Given the description of an element on the screen output the (x, y) to click on. 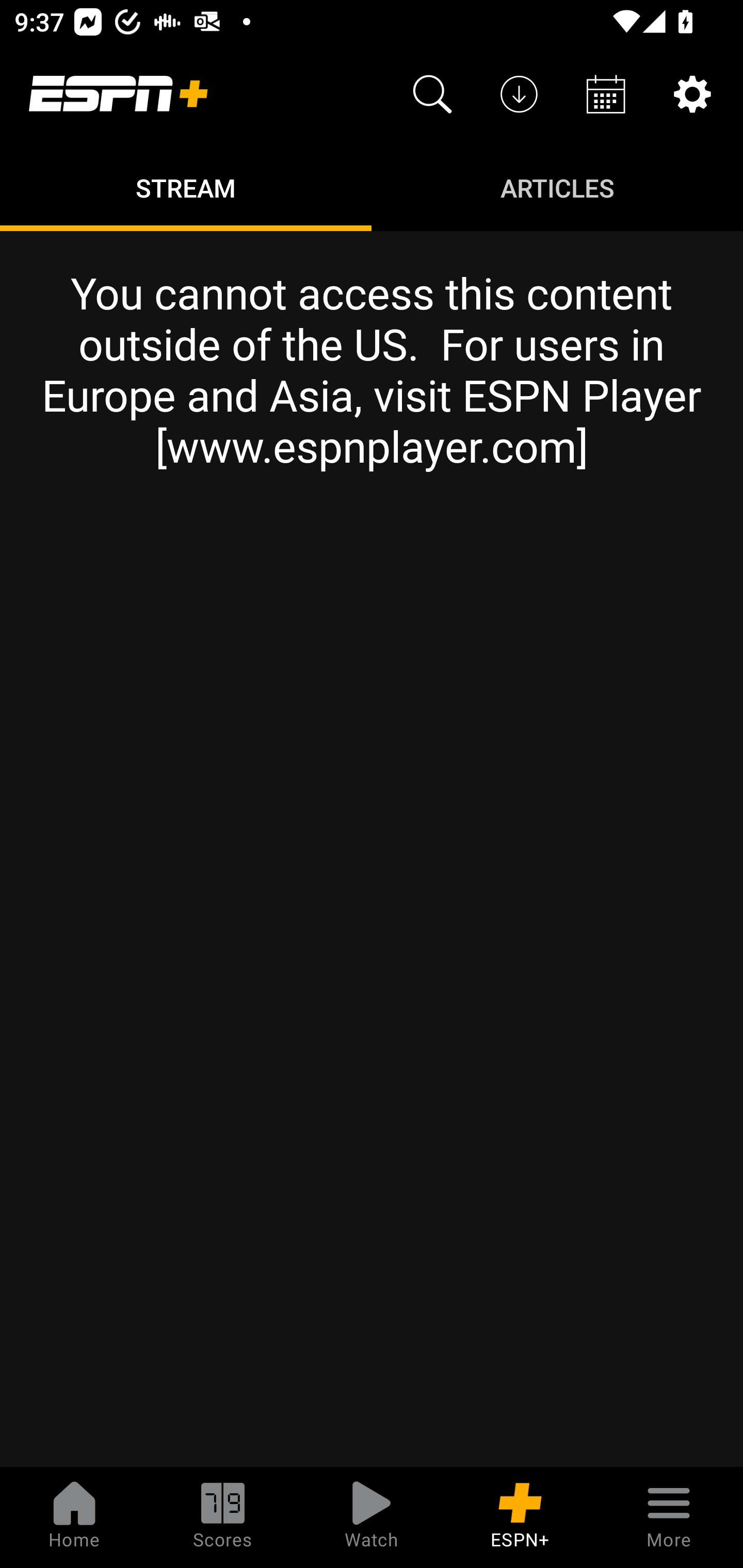
Search (432, 93)
Downloads (518, 93)
Schedule (605, 93)
Settings (692, 93)
Articles ARTICLES (557, 187)
Home (74, 1517)
Scores (222, 1517)
Watch (371, 1517)
More (668, 1517)
